Given the description of an element on the screen output the (x, y) to click on. 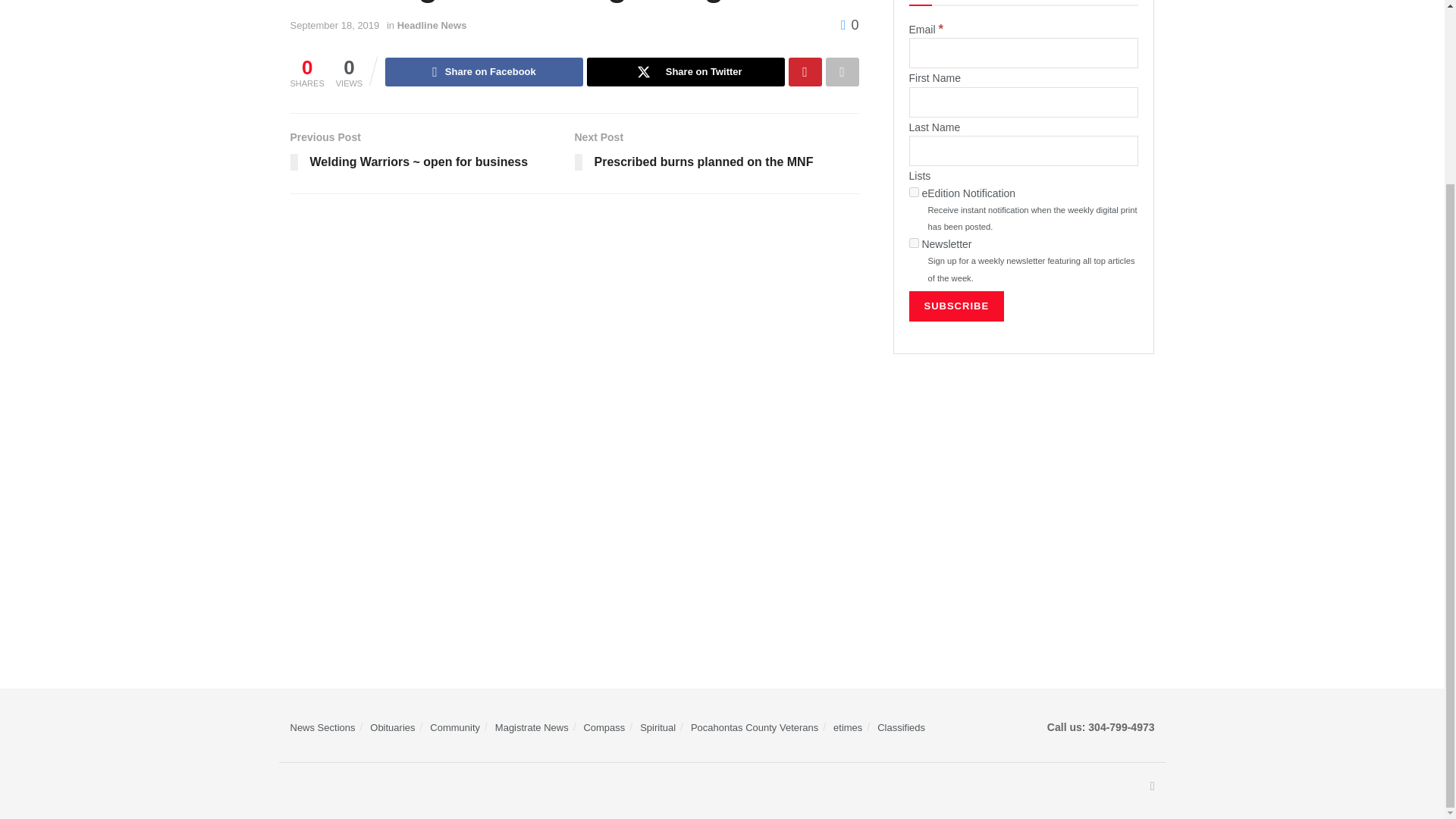
September 18, 2019 (333, 25)
1 (913, 192)
Subscribe (956, 306)
Headline News (432, 25)
Advertisement (1023, 490)
2 (913, 243)
